Given the description of an element on the screen output the (x, y) to click on. 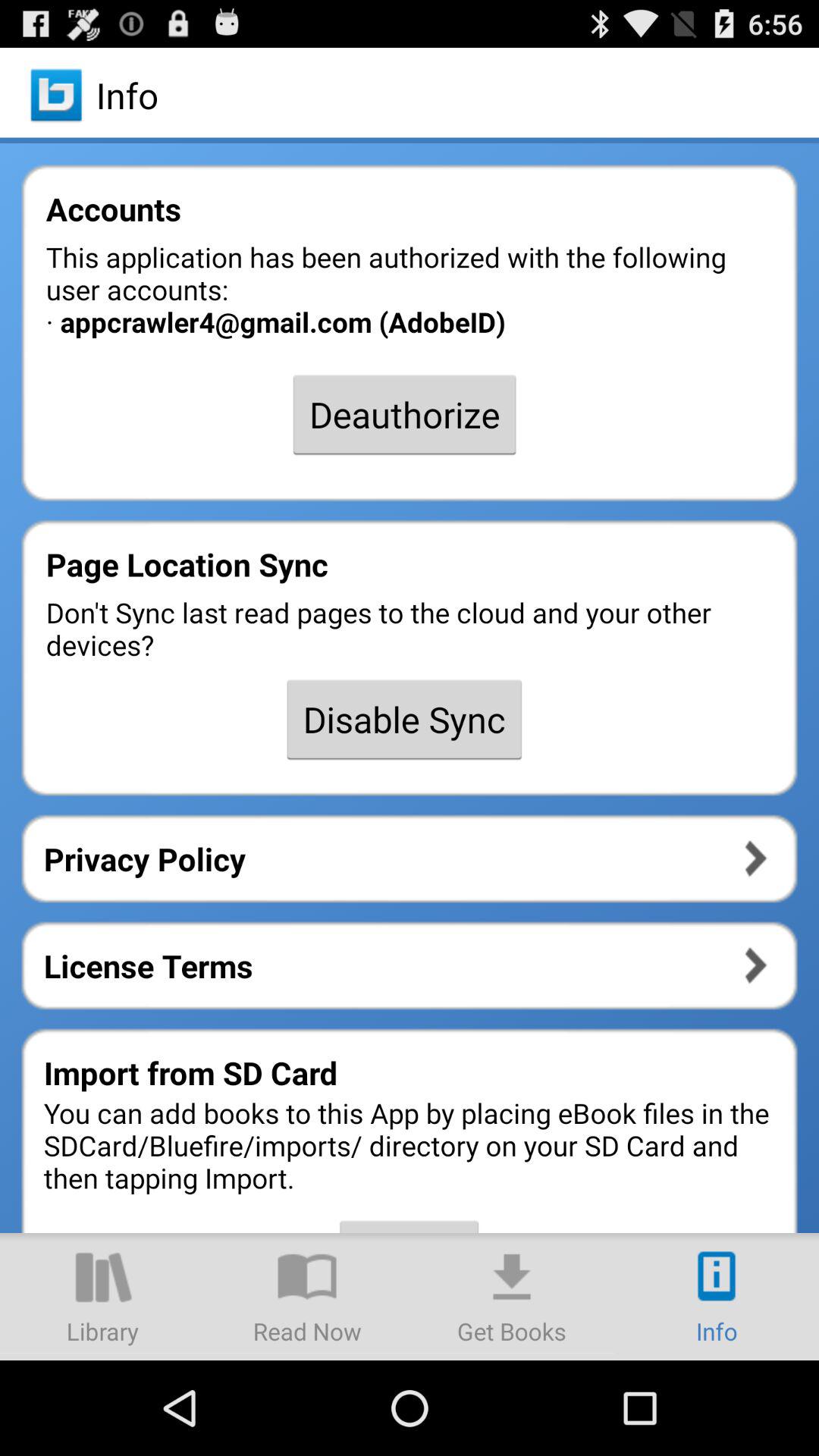
select icon below import (306, 1296)
